Given the description of an element on the screen output the (x, y) to click on. 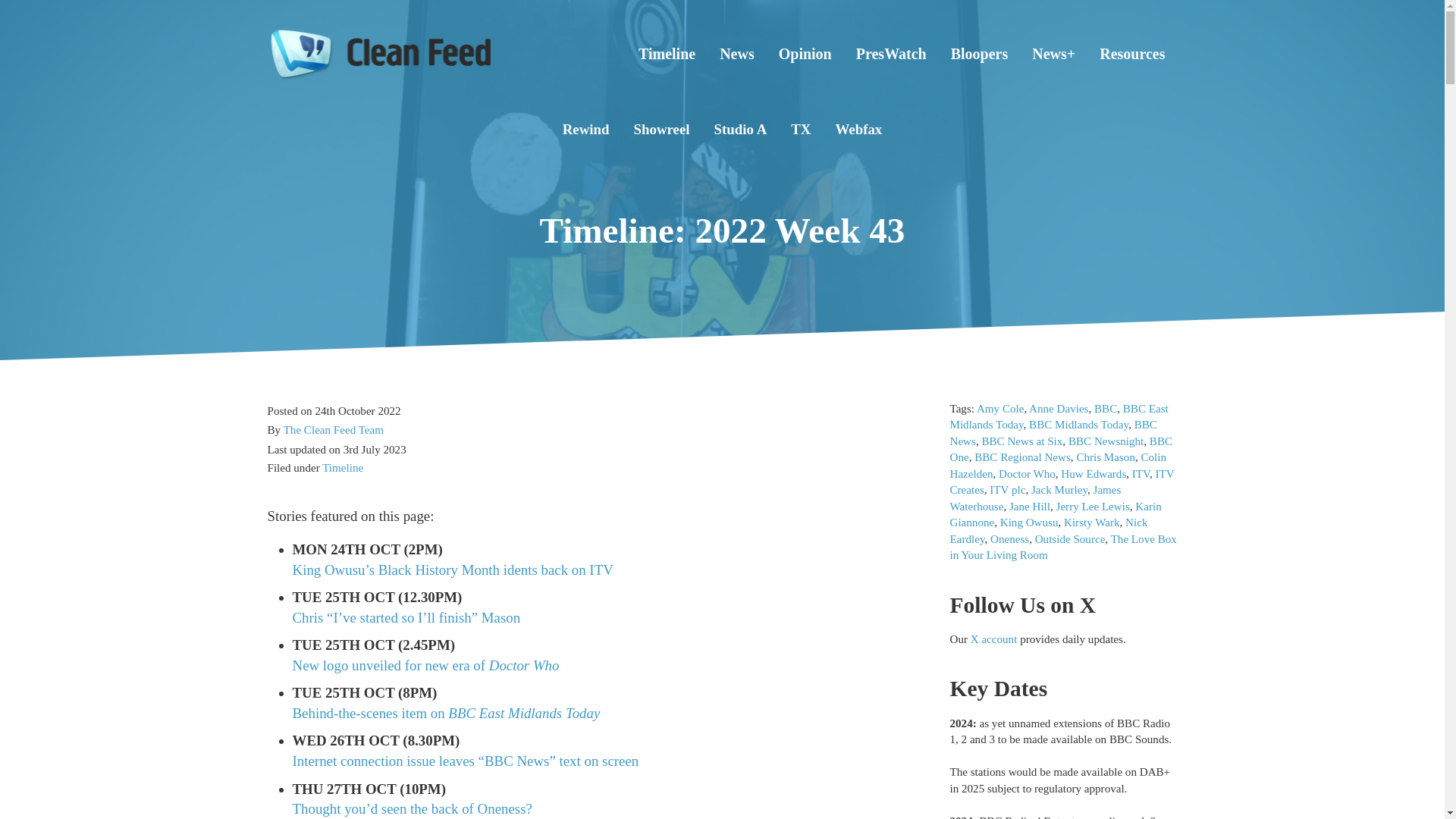
New logo unveiled for new era of Doctor Who (425, 665)
Bloopers (979, 53)
Behind-the-scenes item on BBC East Midlands Today (445, 713)
Rewind (585, 128)
Opinion (805, 53)
The Clean Feed Team (333, 430)
News (737, 53)
Studio A (739, 128)
Resources (1131, 53)
Timeline (666, 53)
PresWatch (891, 53)
Showreel (661, 128)
Webfax (857, 128)
Timeline (341, 467)
